Given the description of an element on the screen output the (x, y) to click on. 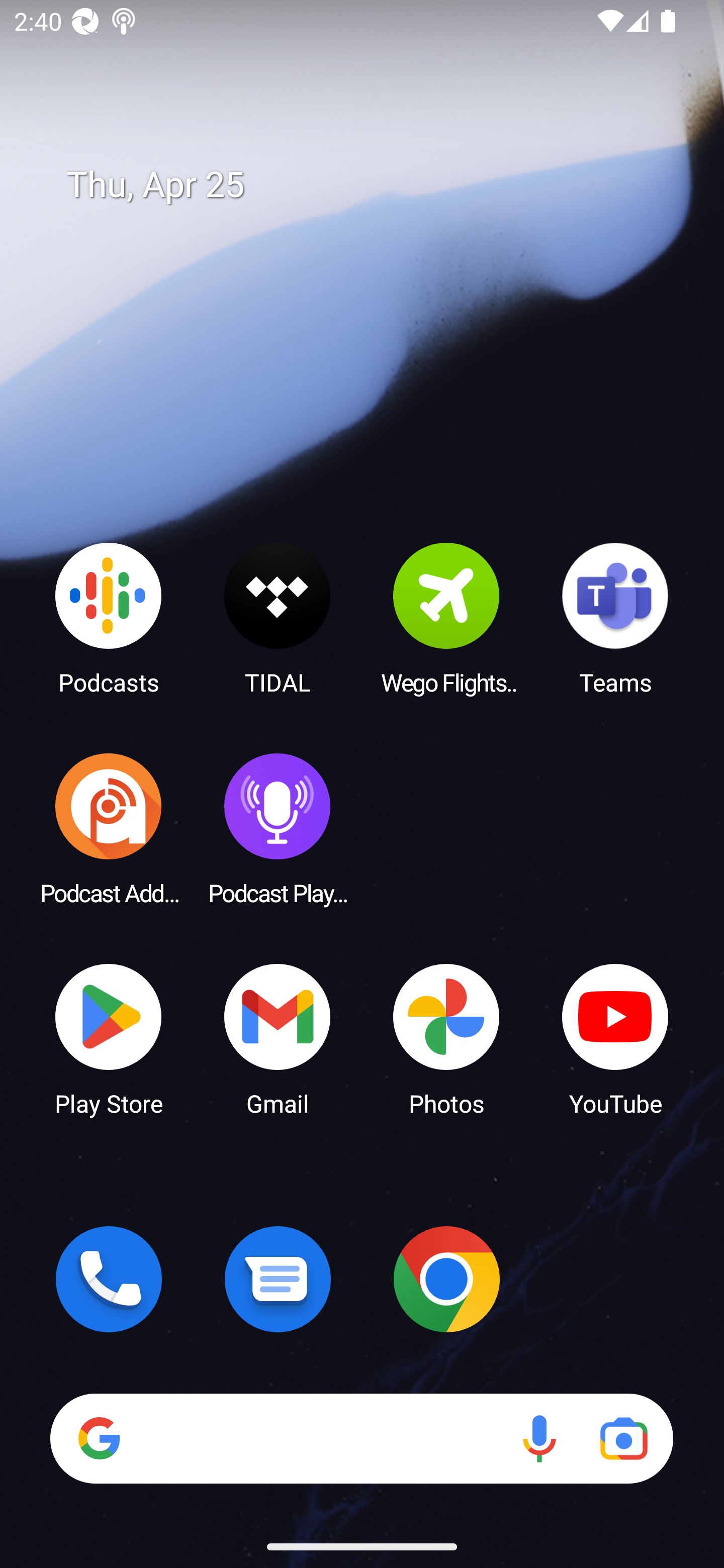
Thu, Apr 25 (375, 184)
Podcasts (108, 617)
TIDAL (277, 617)
Wego Flights & Hotels (445, 617)
Teams (615, 617)
Podcast Addict (108, 828)
Podcast Player (277, 828)
Play Store (108, 1038)
Gmail (277, 1038)
Photos (445, 1038)
YouTube (615, 1038)
Phone (108, 1279)
Messages (277, 1279)
Chrome (446, 1279)
Search Voice search Google Lens (361, 1438)
Voice search (539, 1438)
Google Lens (623, 1438)
